Given the description of an element on the screen output the (x, y) to click on. 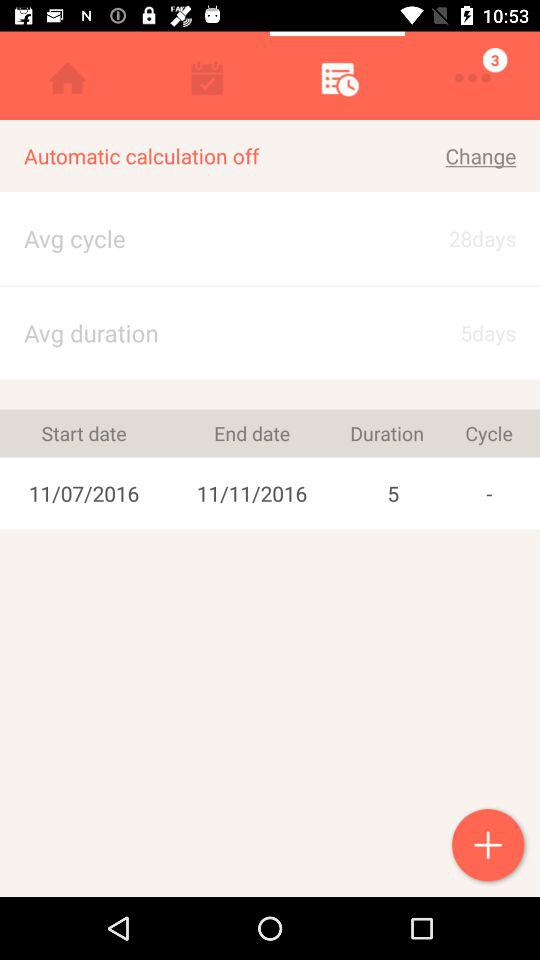
add new record (490, 847)
